Given the description of an element on the screen output the (x, y) to click on. 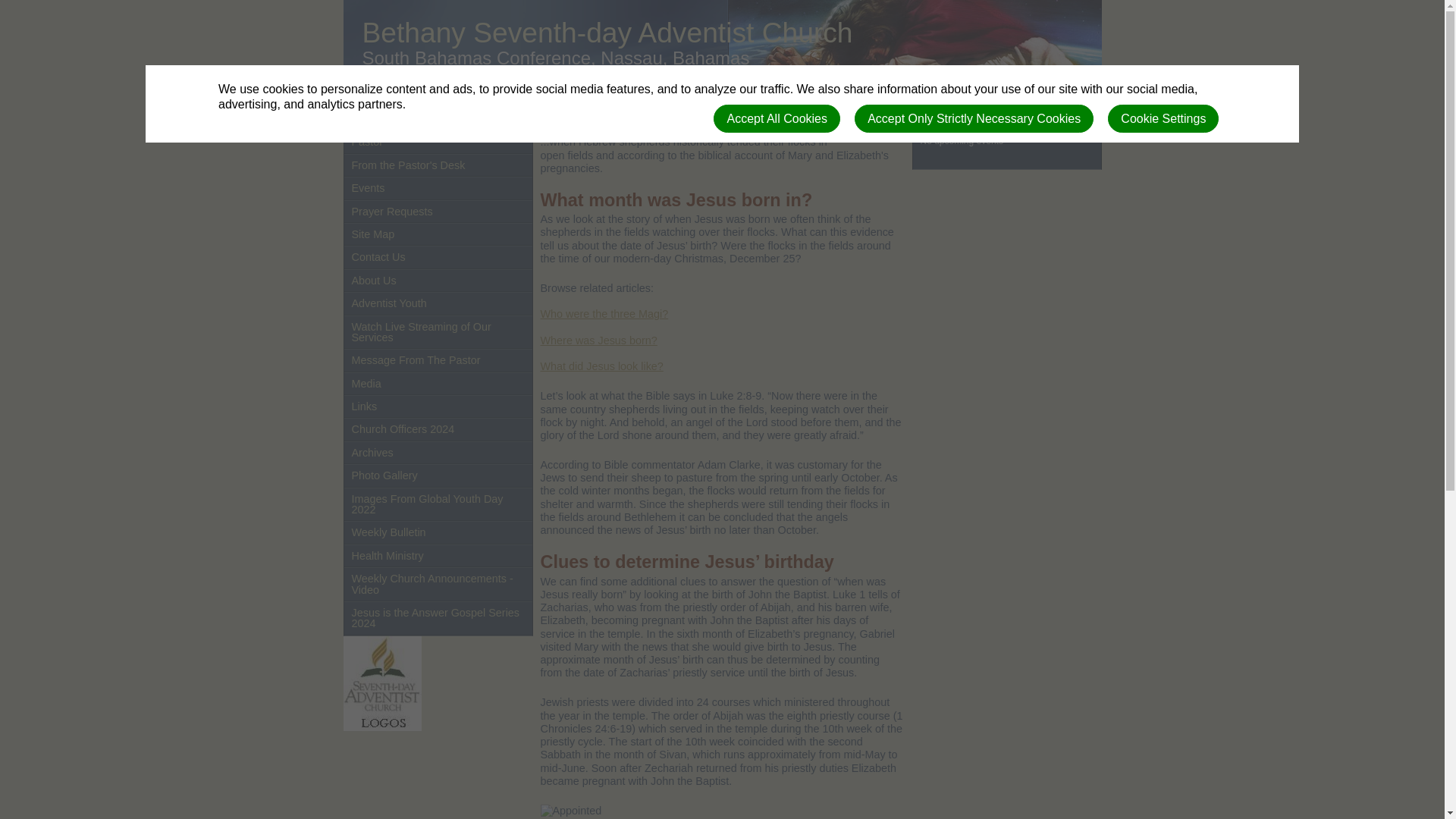
Message From The Pastor (437, 359)
Weekly Church Announcements - Video (437, 584)
Contact Us (437, 256)
Photo Gallery (437, 475)
What did Jesus look like? (601, 366)
Home (437, 118)
Pastor (437, 141)
Site Map (437, 233)
Jesus is the Answer Gospel Series 2024 (437, 618)
Prayer Requests (437, 210)
Watch Live Streaming of Our Services (437, 332)
From the Pastor's Desk (437, 164)
Media (437, 383)
Who were the three Magi? (604, 313)
Health Ministry (437, 555)
